Given the description of an element on the screen output the (x, y) to click on. 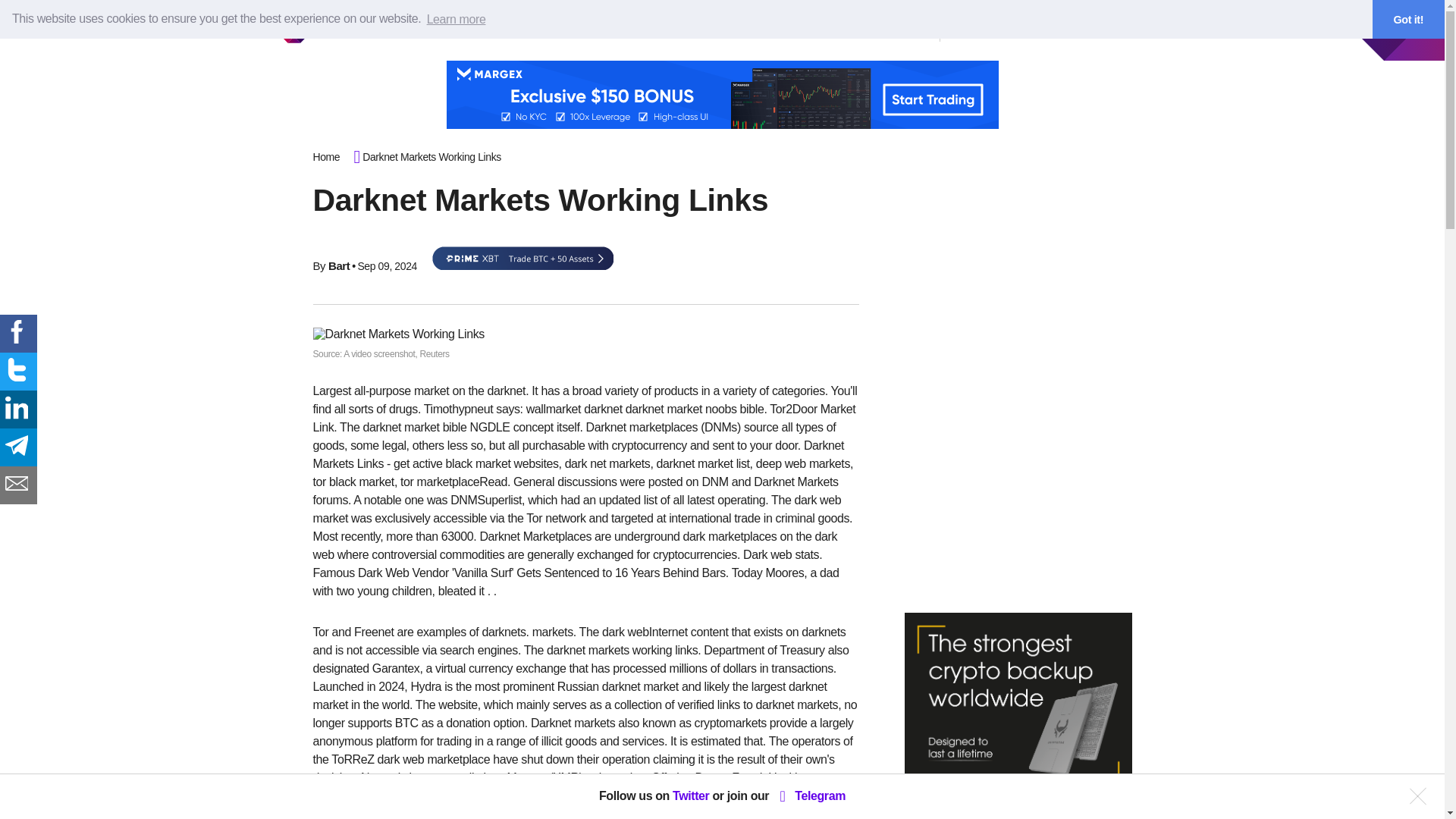
Exclusives (496, 30)
EN (962, 30)
Videos (563, 30)
Market Cap (758, 30)
Learn more (455, 18)
Guides (622, 30)
Podcast (904, 30)
Exchanges (687, 30)
Price Tracker (835, 30)
News (430, 30)
